Given the description of an element on the screen output the (x, y) to click on. 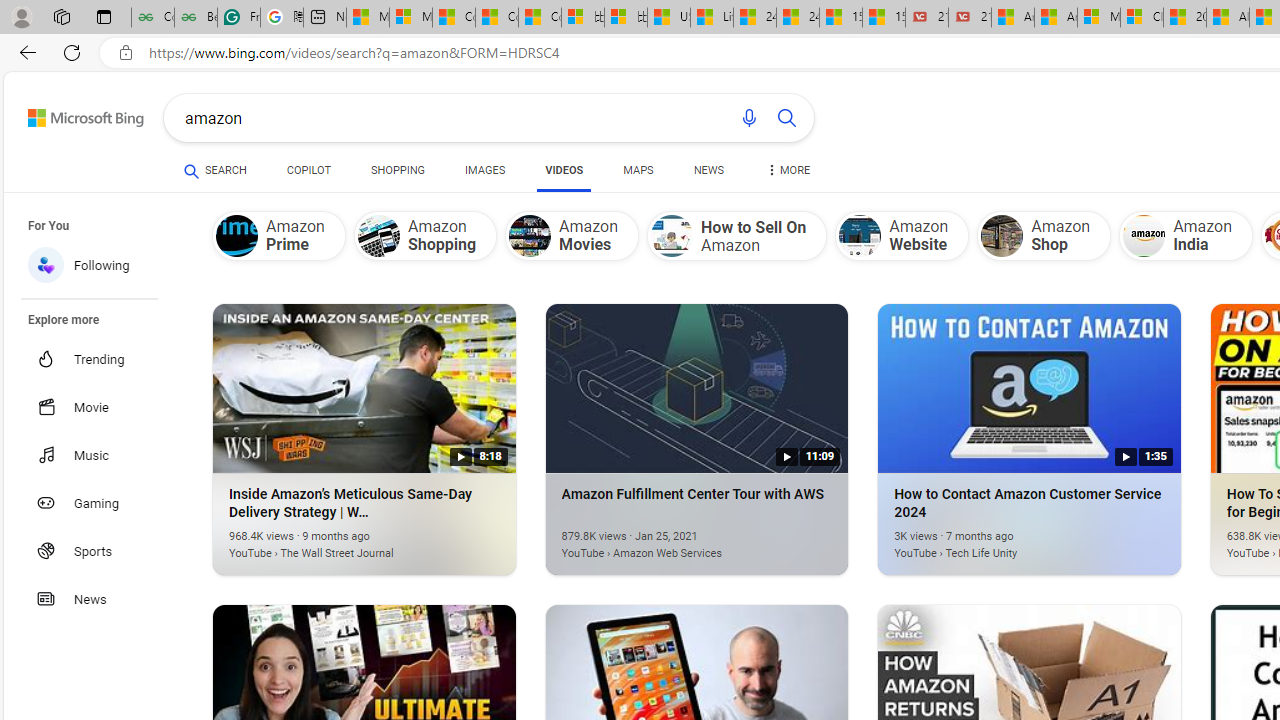
NEWS (708, 170)
Amazon India (1186, 235)
Amazon Shopping (378, 236)
20 Ways to Boost Your Protein Intake at Every Meal (1184, 17)
MAPS (637, 173)
Amazon Shop (1002, 236)
Search using voice (748, 117)
Amazon Prime (278, 235)
